Given the description of an element on the screen output the (x, y) to click on. 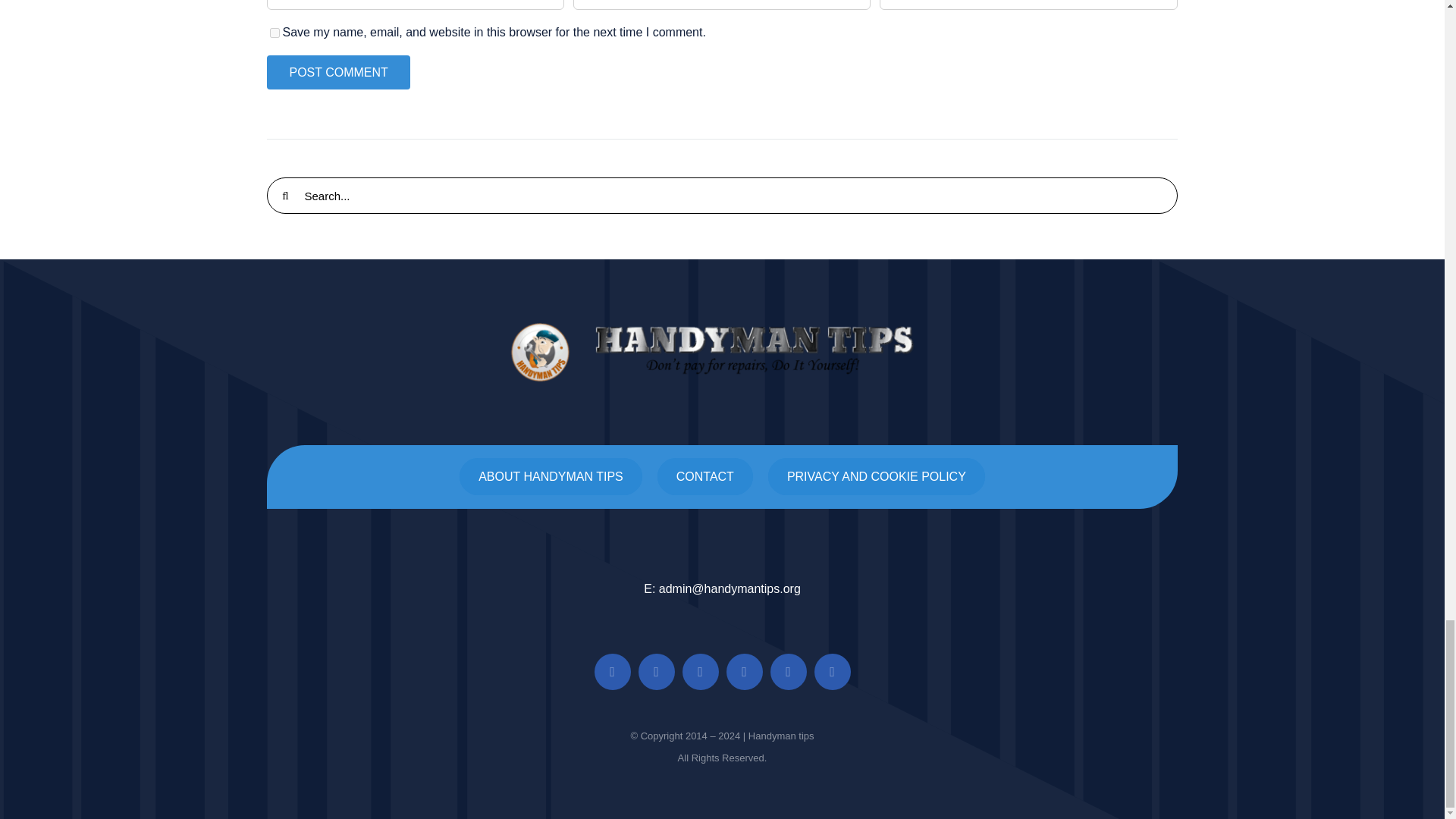
Post Comment (337, 72)
yes (274, 32)
PRIVACY AND COOKIE POLICY (876, 476)
Handyman tips header new (721, 352)
CONTACT (705, 476)
ABOUT HANDYMAN TIPS (551, 476)
Post Comment (337, 72)
